Given the description of an element on the screen output the (x, y) to click on. 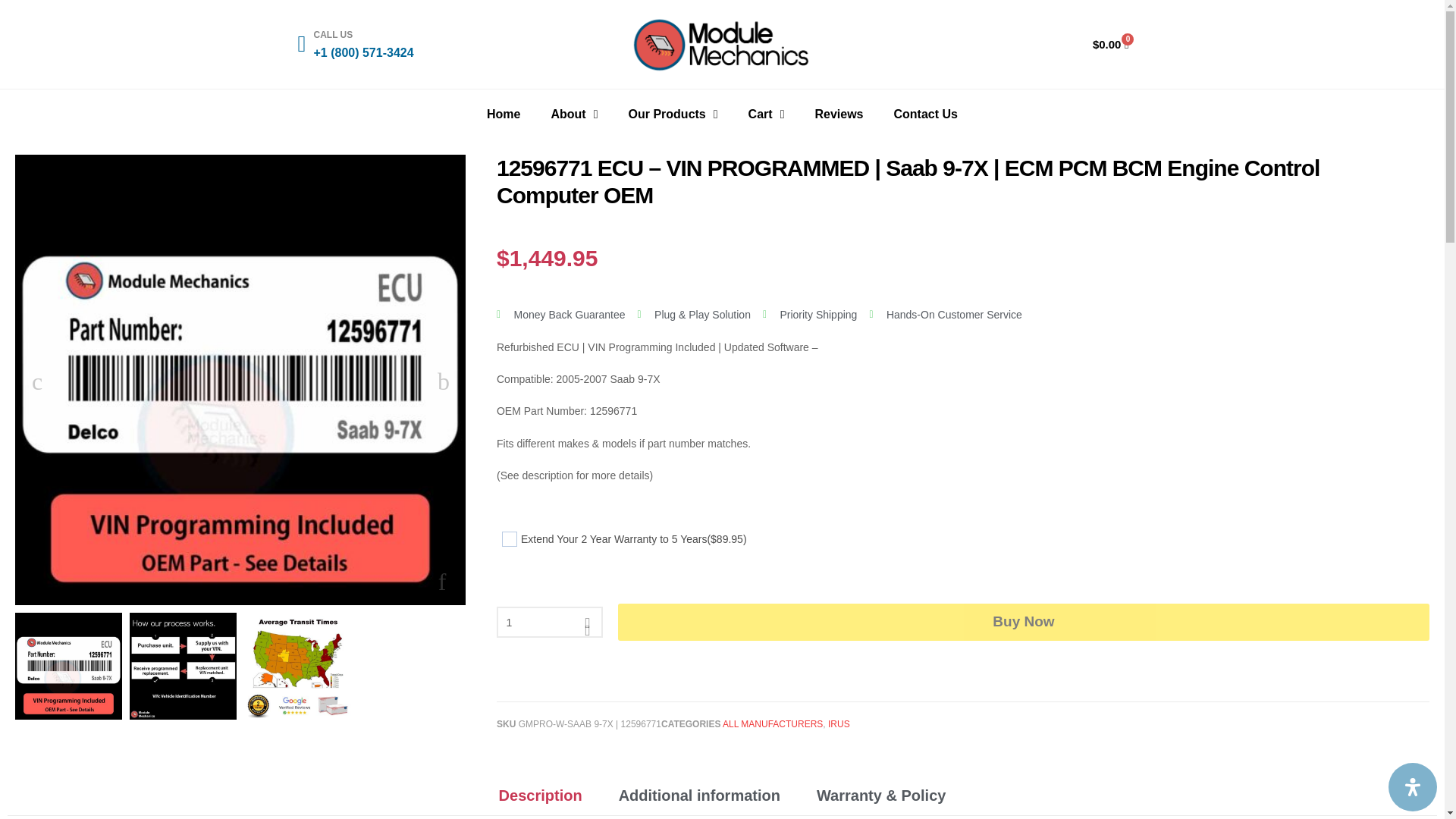
Our Products (672, 114)
About (573, 114)
Home (503, 114)
1 (549, 622)
